Given the description of an element on the screen output the (x, y) to click on. 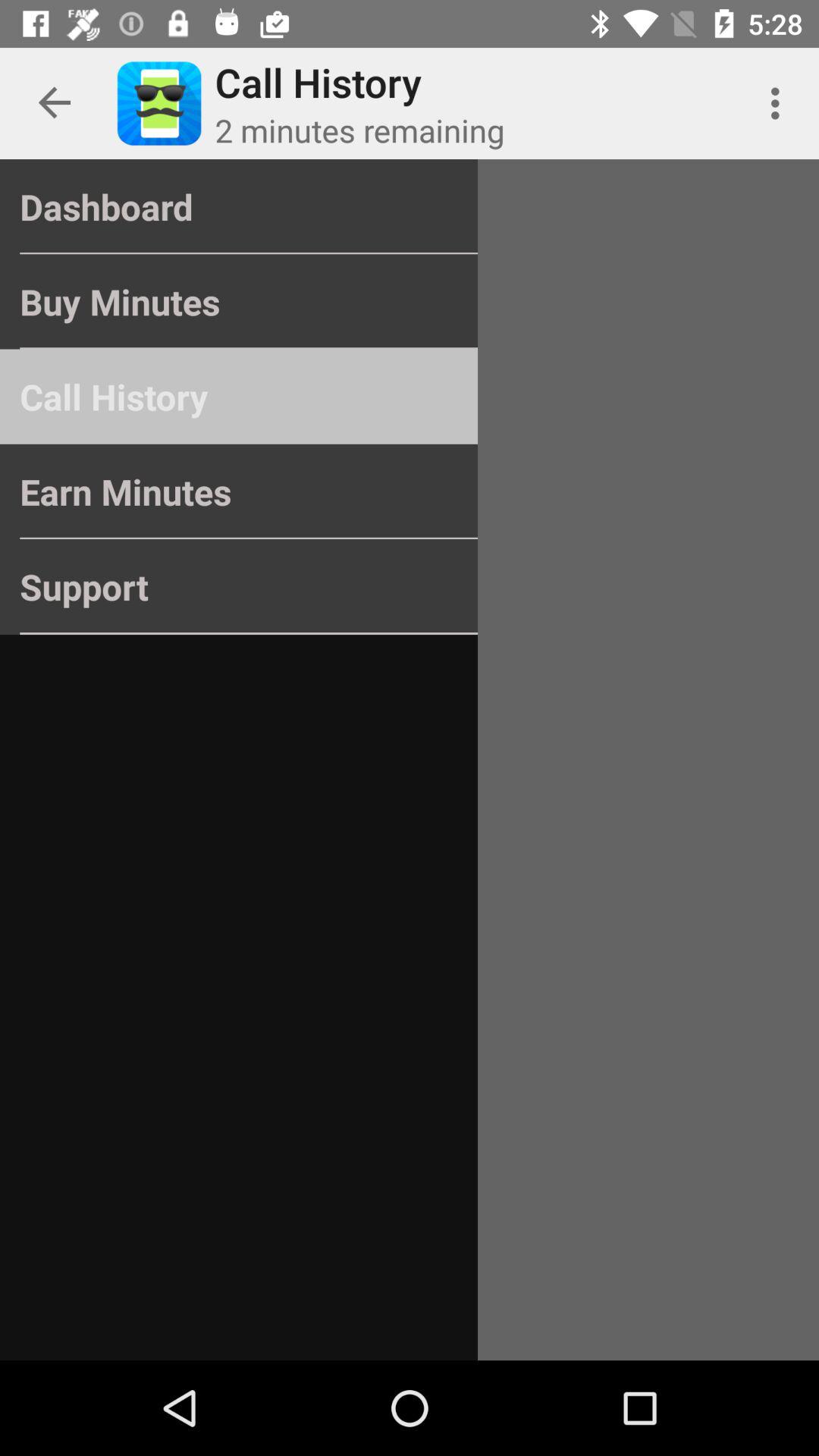
launch earn minutes (238, 491)
